Given the description of an element on the screen output the (x, y) to click on. 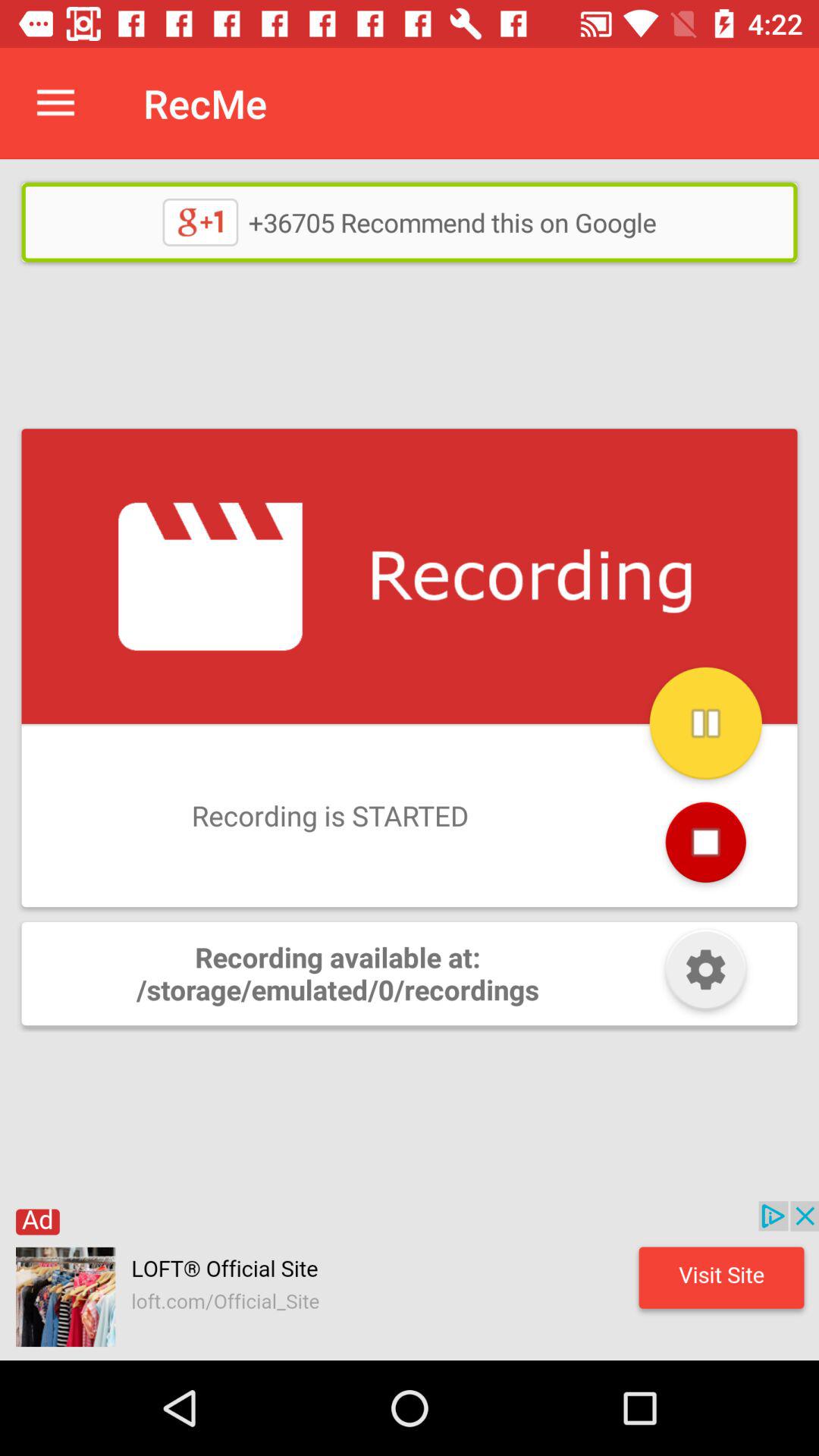
open settings (705, 973)
